Given the description of an element on the screen output the (x, y) to click on. 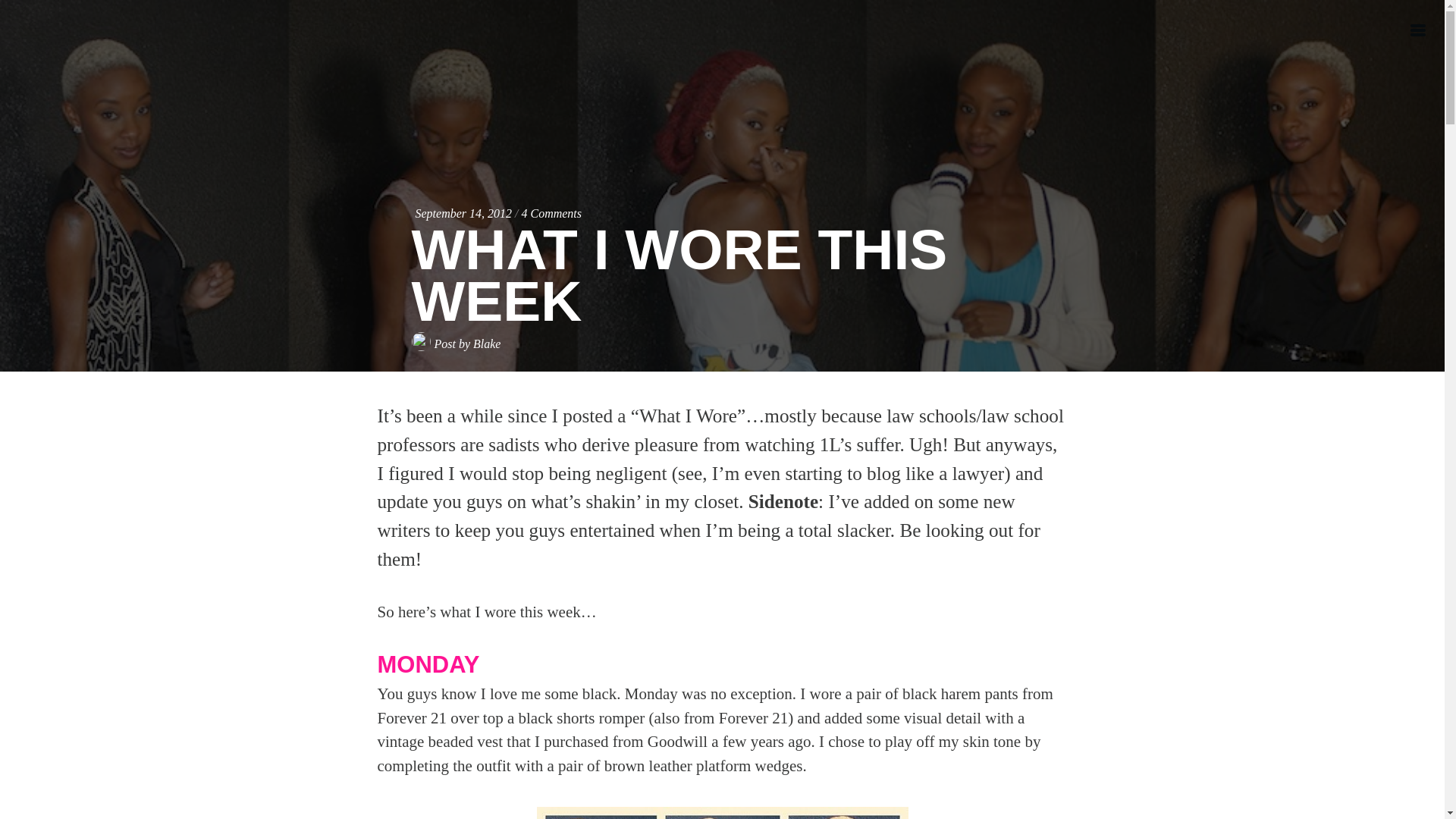
4 Comments (550, 213)
JOIN MY TEAM! (1319, 228)
HOME (1319, 68)
ABOUT (1319, 108)
PRESS (1319, 148)
Search (57, 18)
SHOP (1319, 188)
Blake (486, 343)
Posts by Blake (486, 343)
CONTACT (1319, 268)
